Given the description of an element on the screen output the (x, y) to click on. 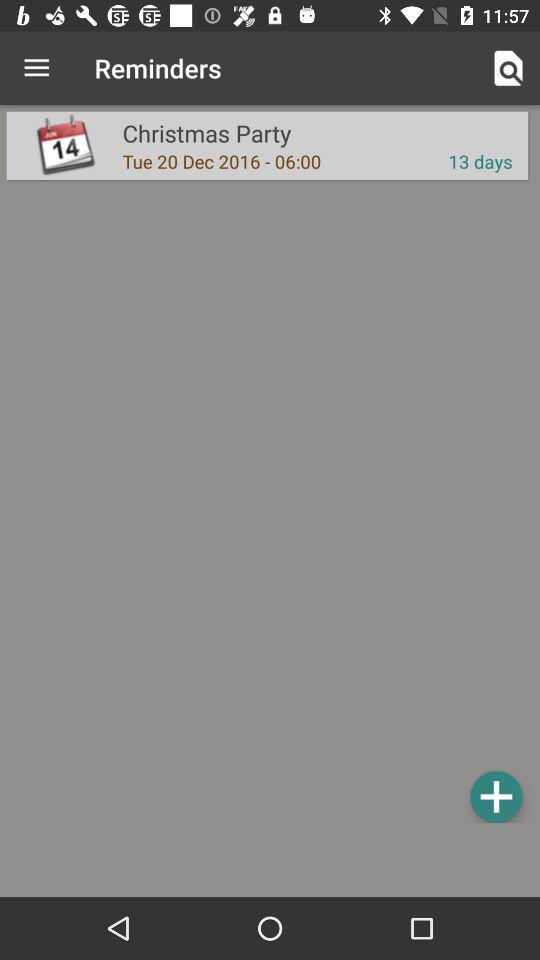
add event (496, 796)
